Given the description of an element on the screen output the (x, y) to click on. 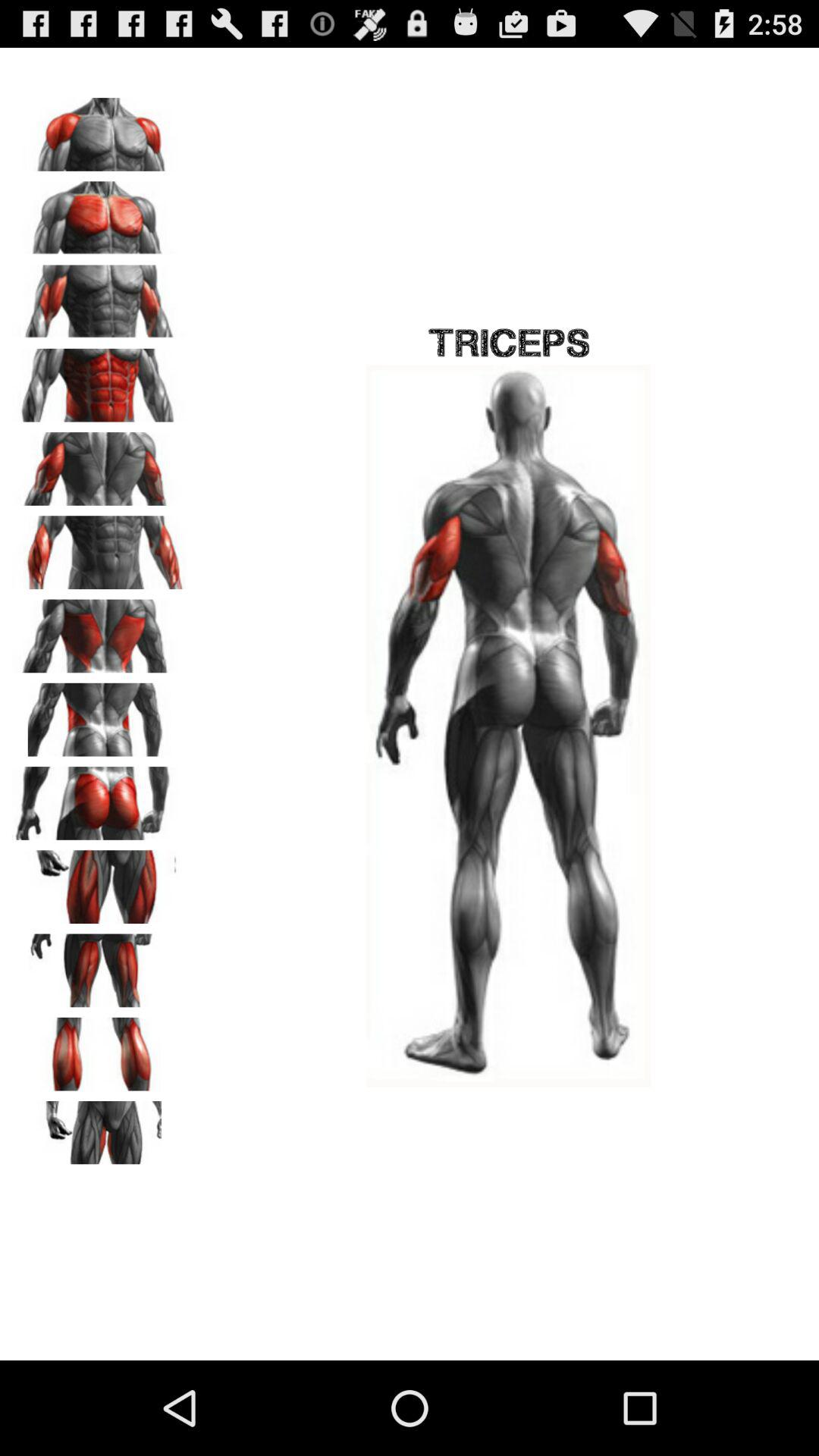
select view (99, 212)
